Given the description of an element on the screen output the (x, y) to click on. 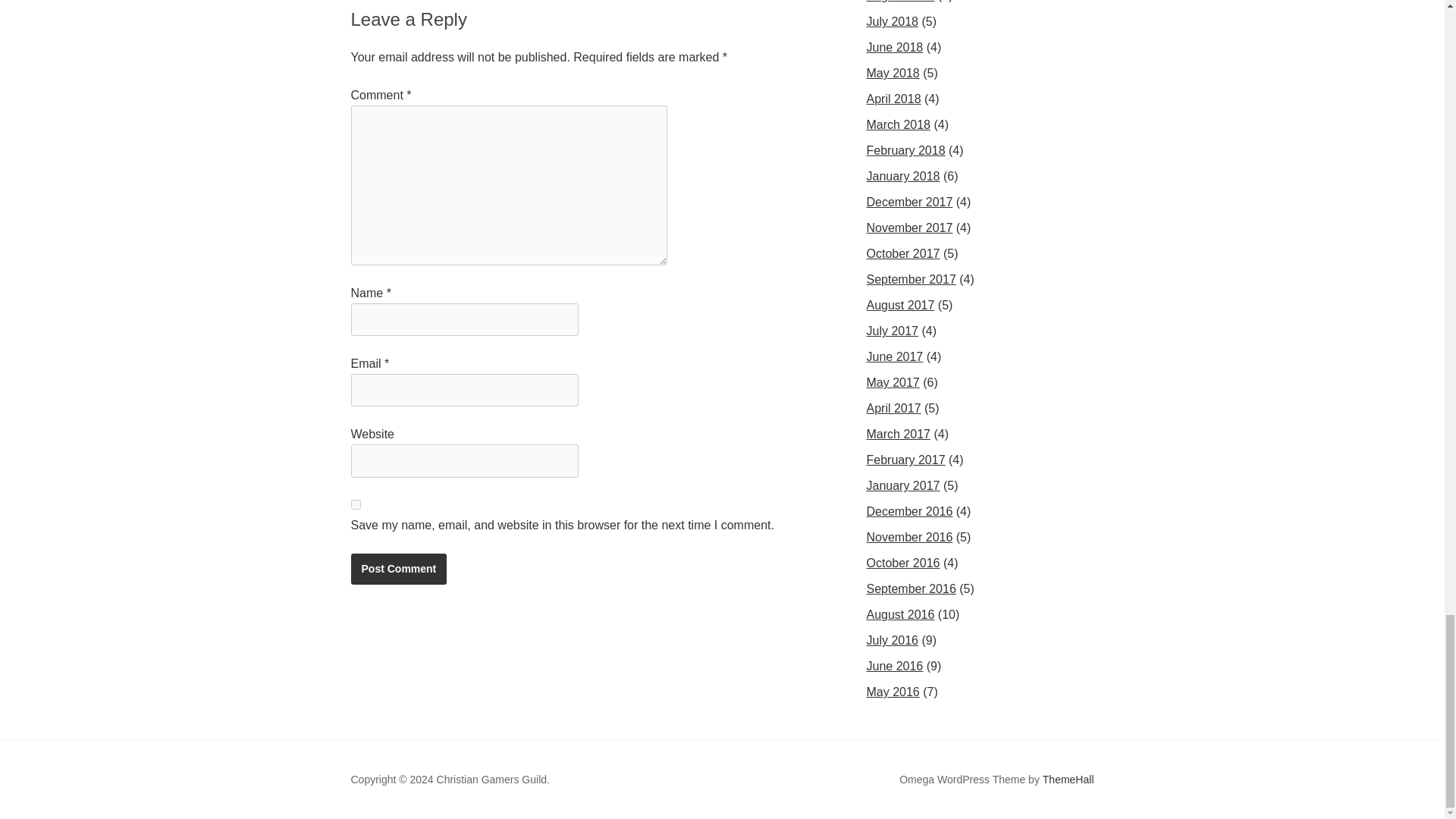
ThemeHall (1068, 779)
Post Comment (398, 568)
yes (354, 504)
